Given the description of an element on the screen output the (x, y) to click on. 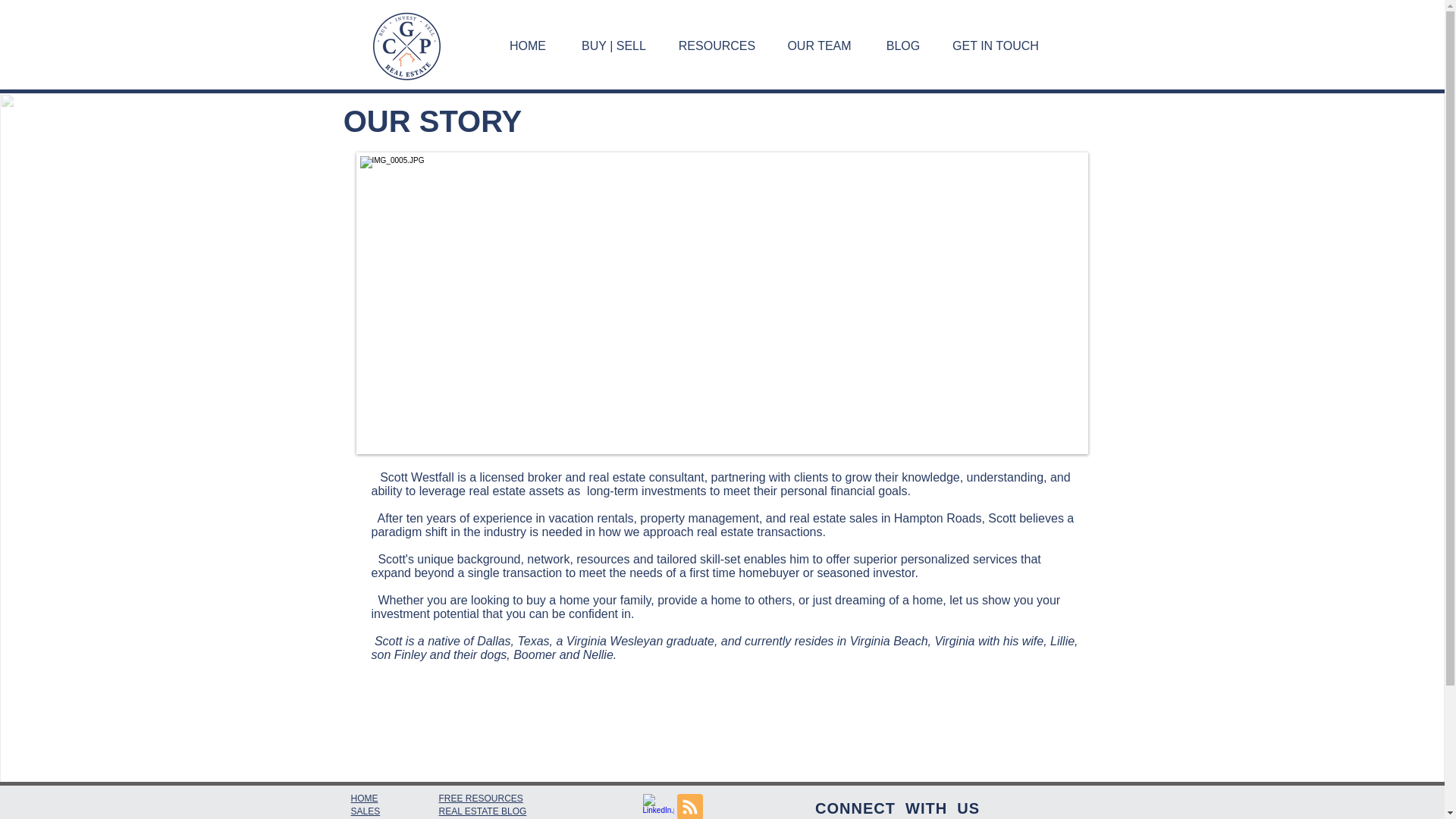
HOME (363, 798)
OUR TEAM (818, 46)
HOME (528, 46)
BLOG (902, 46)
FREE RESOURCES (480, 798)
SALES (365, 810)
CGPlogo-03.png (406, 45)
GET IN TOUCH (995, 46)
REAL ESTATE BLOG (481, 810)
